Given the description of an element on the screen output the (x, y) to click on. 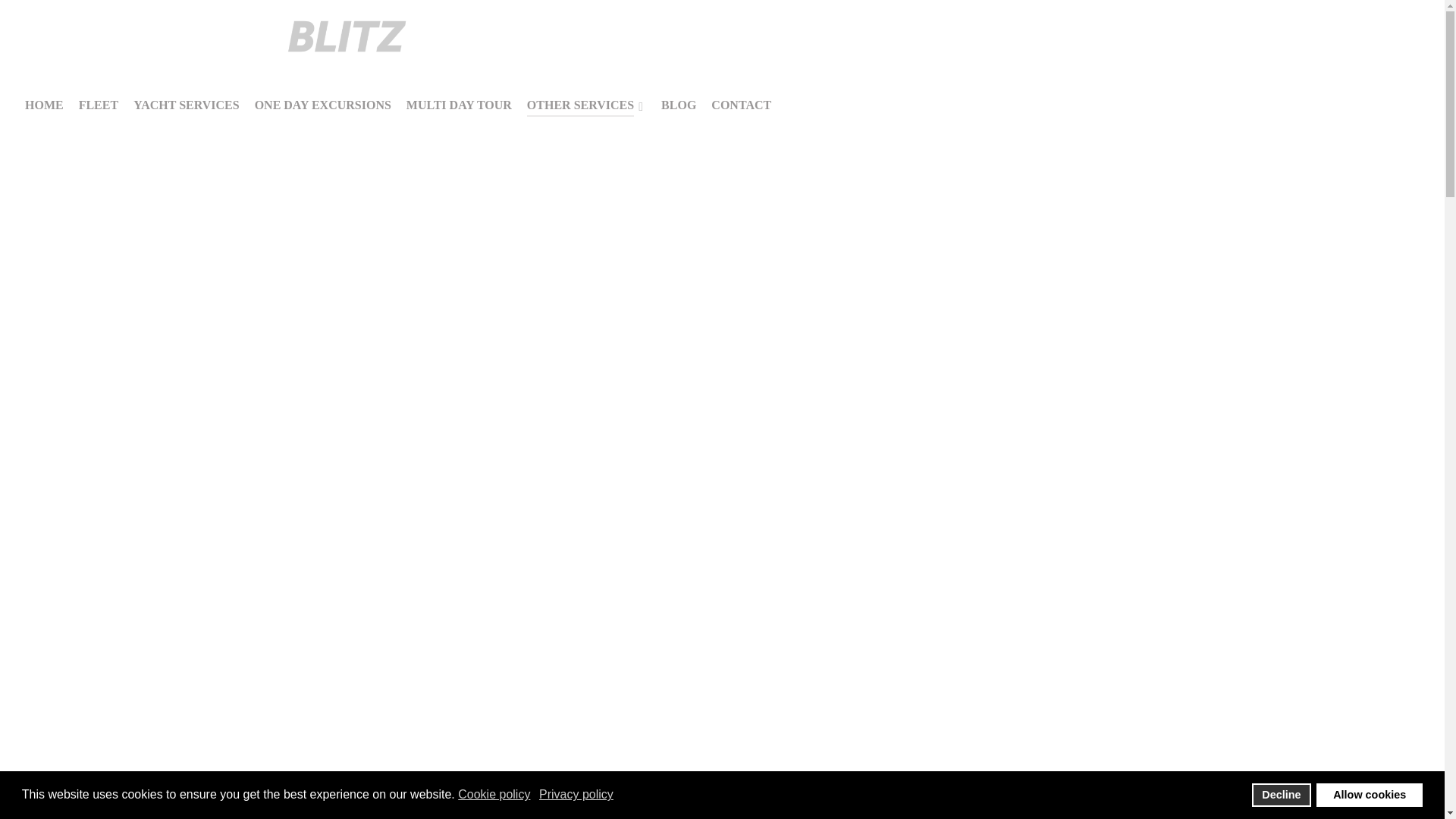
Privacy policy (576, 794)
ONE DAY EXCURSIONS (322, 106)
MULTI DAY TOUR (459, 106)
BLOG (678, 106)
Cookie policy (495, 794)
YACHT SERVICES (186, 106)
Decline (1281, 794)
OTHER SERVICES (586, 106)
HOME (44, 106)
Allow cookies (1369, 794)
FLEET (97, 106)
CONTACT (741, 106)
